Given the description of an element on the screen output the (x, y) to click on. 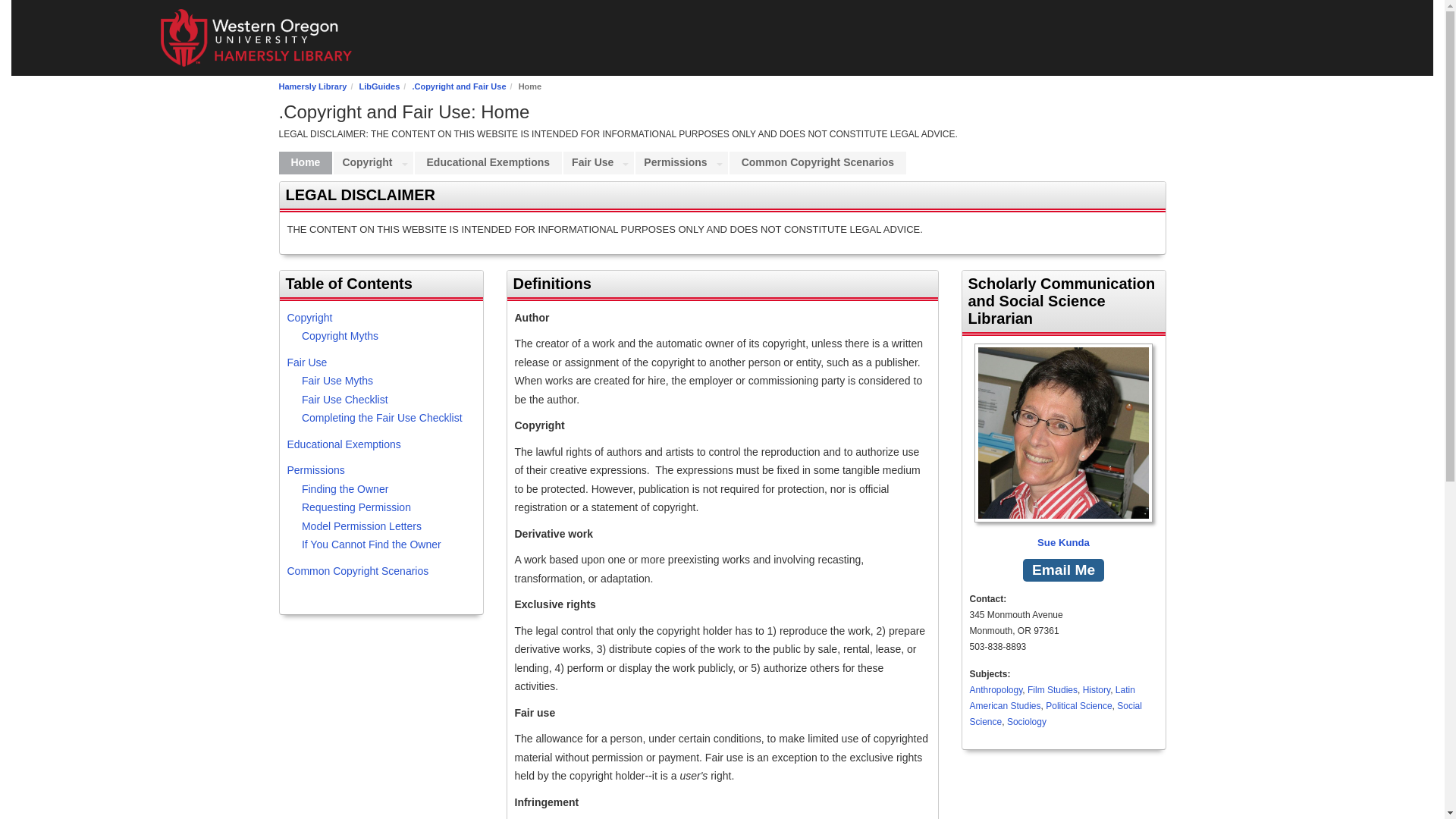
Permissions (314, 469)
Home (306, 162)
Email Me (1063, 570)
Fair Use Checklist (344, 399)
Hamersly Library (313, 85)
Toggle Dropdown (719, 162)
Common Copyright Scenarios (357, 571)
Completing the Fair Use Checklist (382, 417)
Model Permission Letters (361, 526)
Copyright Myths (339, 336)
Requesting Permission (355, 507)
Copyright (308, 317)
Permissions (672, 162)
If You Cannot Find the Owner (371, 544)
Toggle Dropdown (625, 162)
